Given the description of an element on the screen output the (x, y) to click on. 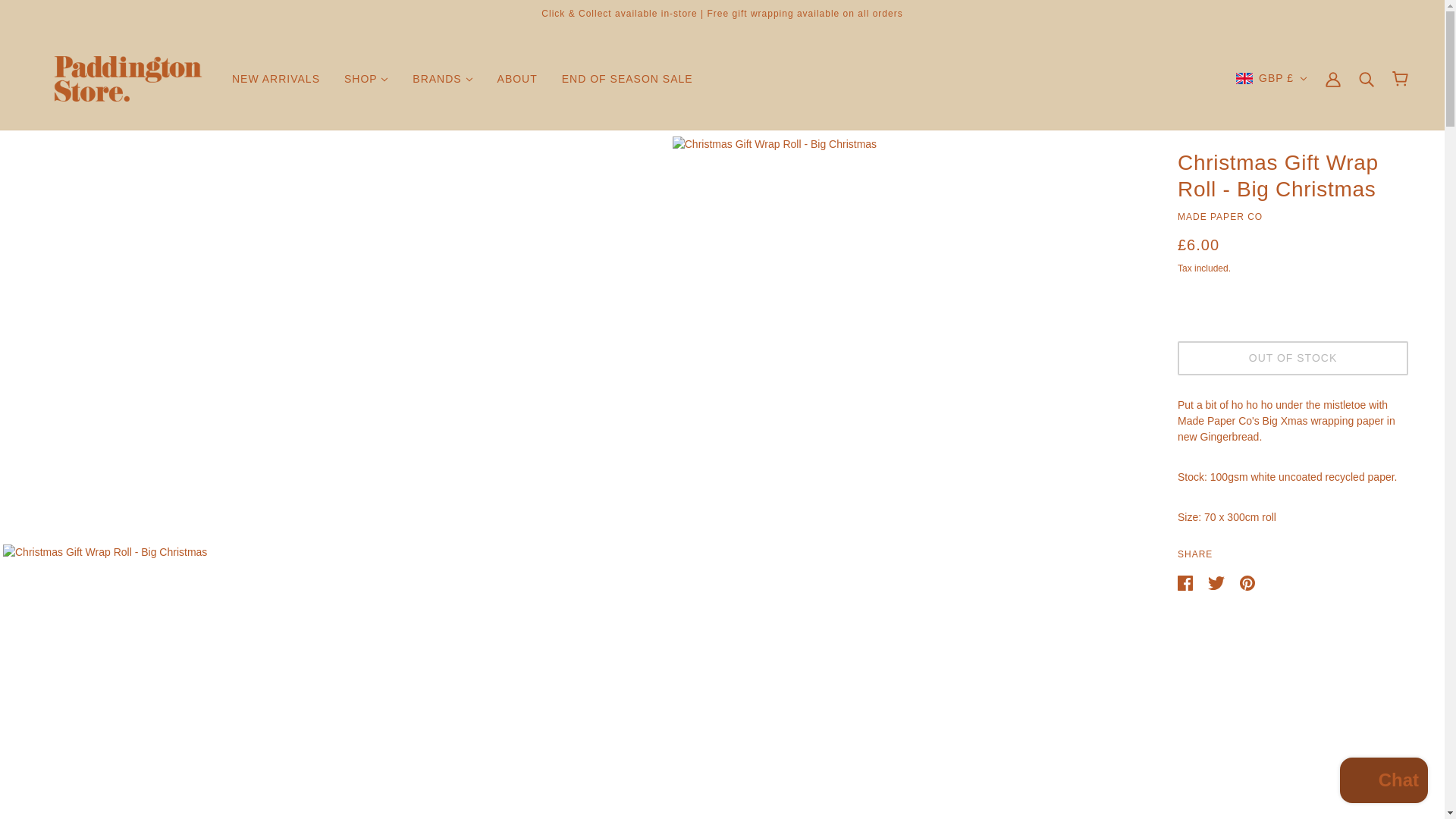
NEW ARRIVALS (275, 78)
SHOP (365, 78)
Shopify online store chat (1383, 781)
Paddington Store (128, 78)
